Given the description of an element on the screen output the (x, y) to click on. 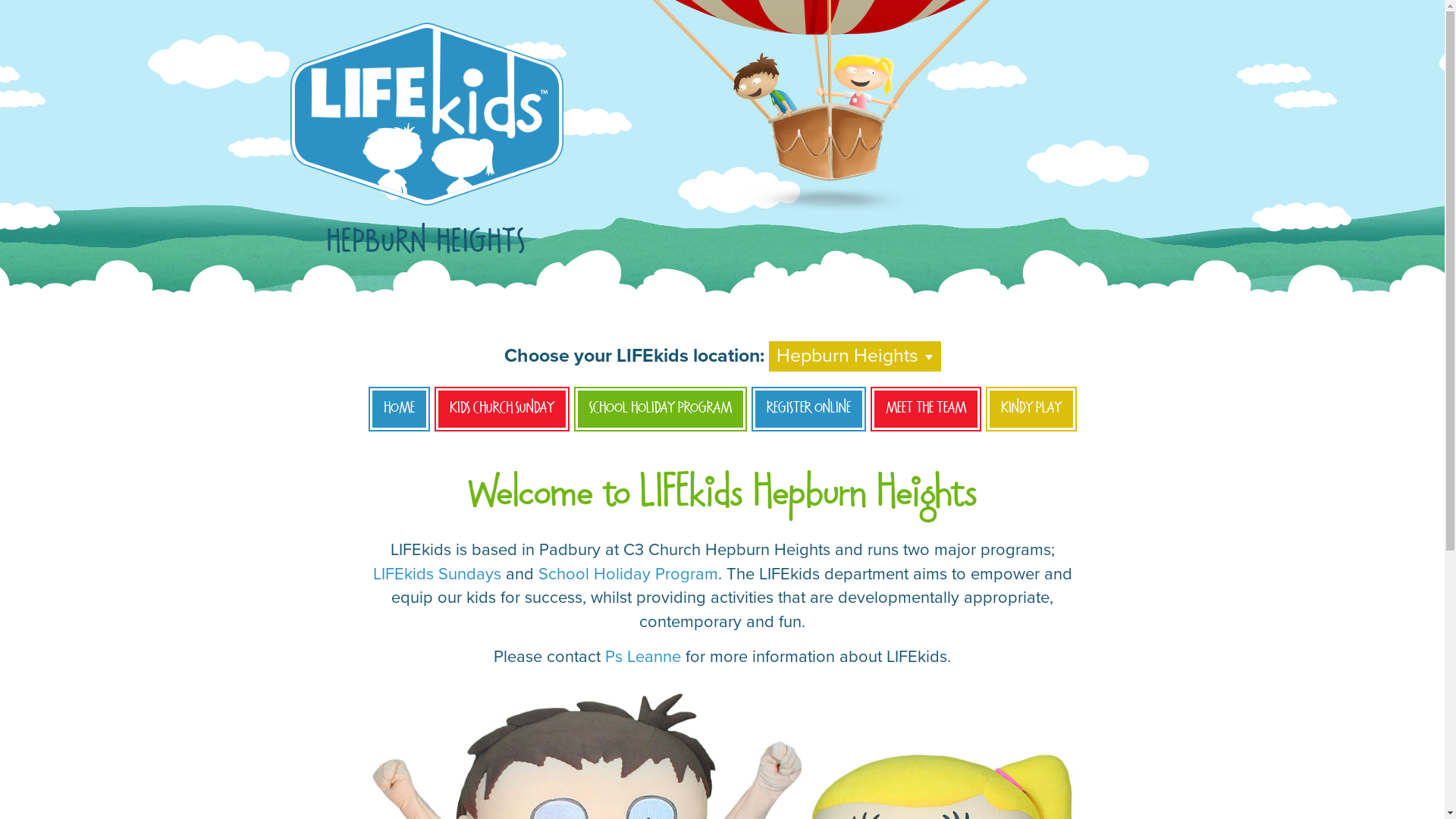
MEET THE TEAM Element type: text (925, 408)
SCHOOL HOLIDAY PROGRAM Element type: text (659, 408)
KINDY PLAY Element type: text (1031, 408)
LIFEkids Sundays Element type: text (437, 573)
School Holiday Program Element type: text (628, 573)
REGISTER ONLINE Element type: text (807, 408)
Ps Leanne Element type: text (642, 656)
KIDS CHURCH SUNDAY Element type: text (501, 408)
HOME Element type: text (399, 408)
